Given the description of an element on the screen output the (x, y) to click on. 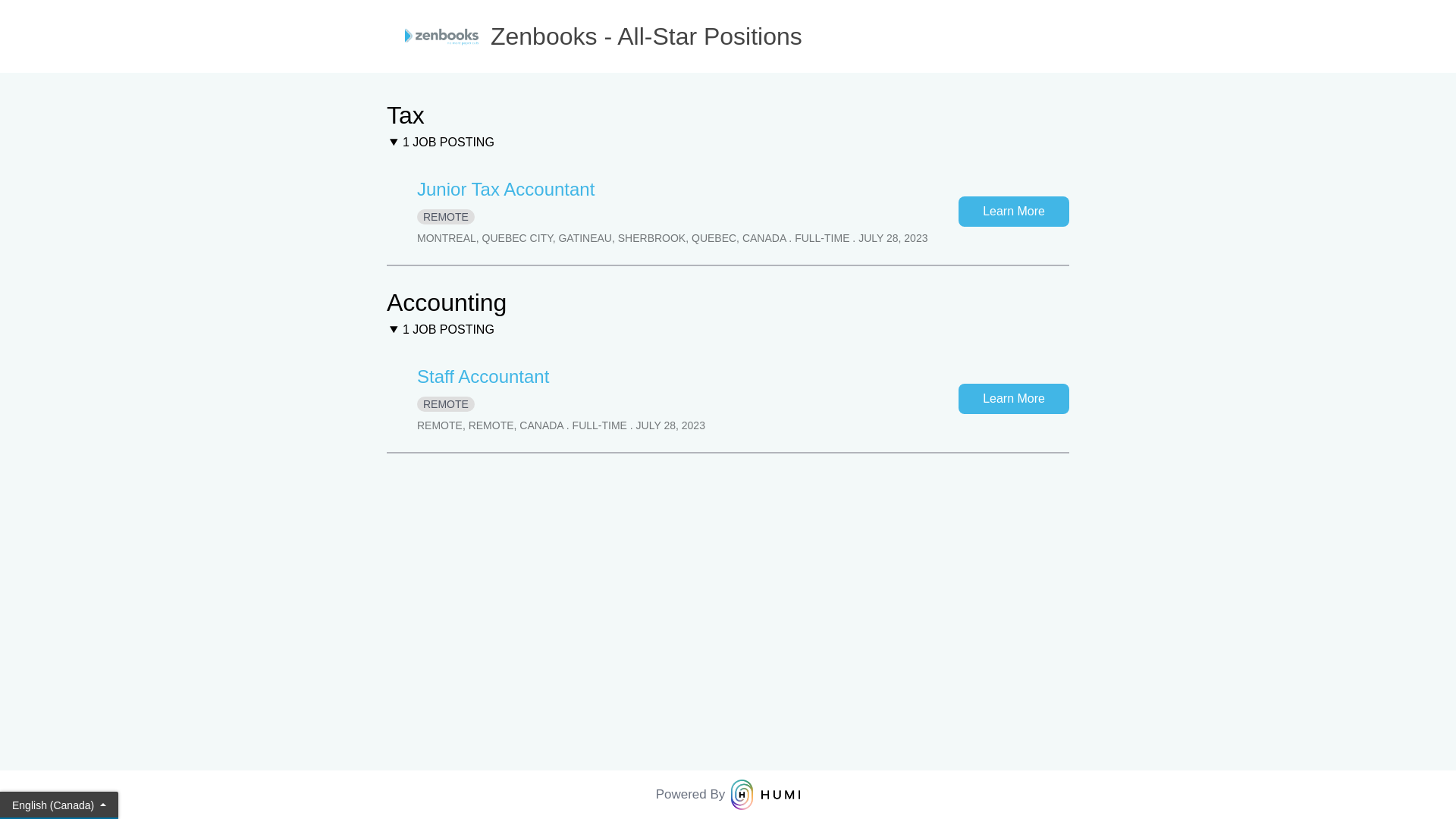
Zenbooks - All-Star Positions Element type: text (727, 36)
Junior Tax Accountant Element type: text (505, 188)
Powered By Element type: text (727, 794)
Learn More Element type: text (1013, 210)
Staff Accountant Element type: text (483, 376)
Learn More Element type: text (1013, 398)
